Given the description of an element on the screen output the (x, y) to click on. 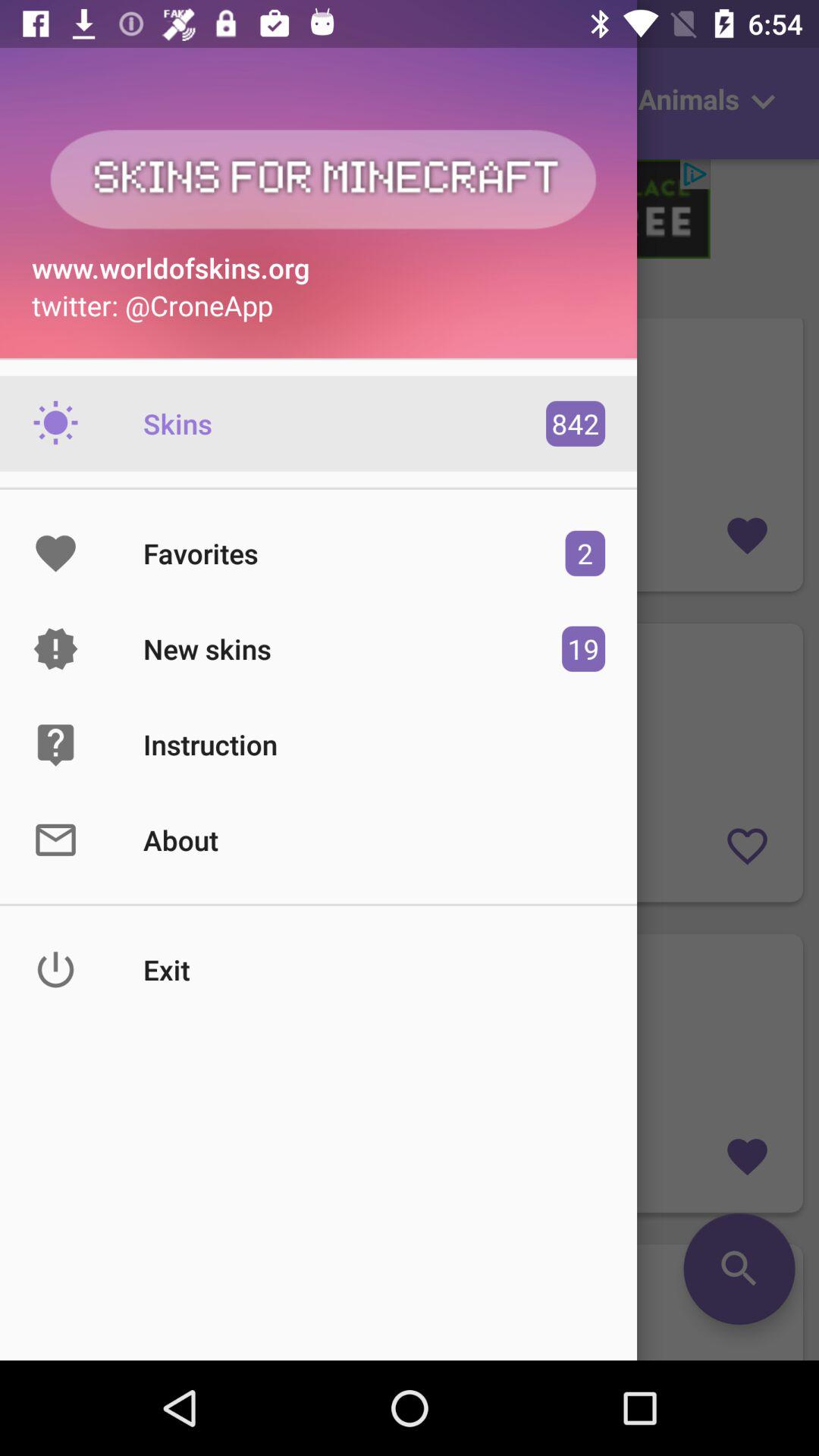
click the search button which is on the right hand side (409, 1301)
